Given the description of an element on the screen output the (x, y) to click on. 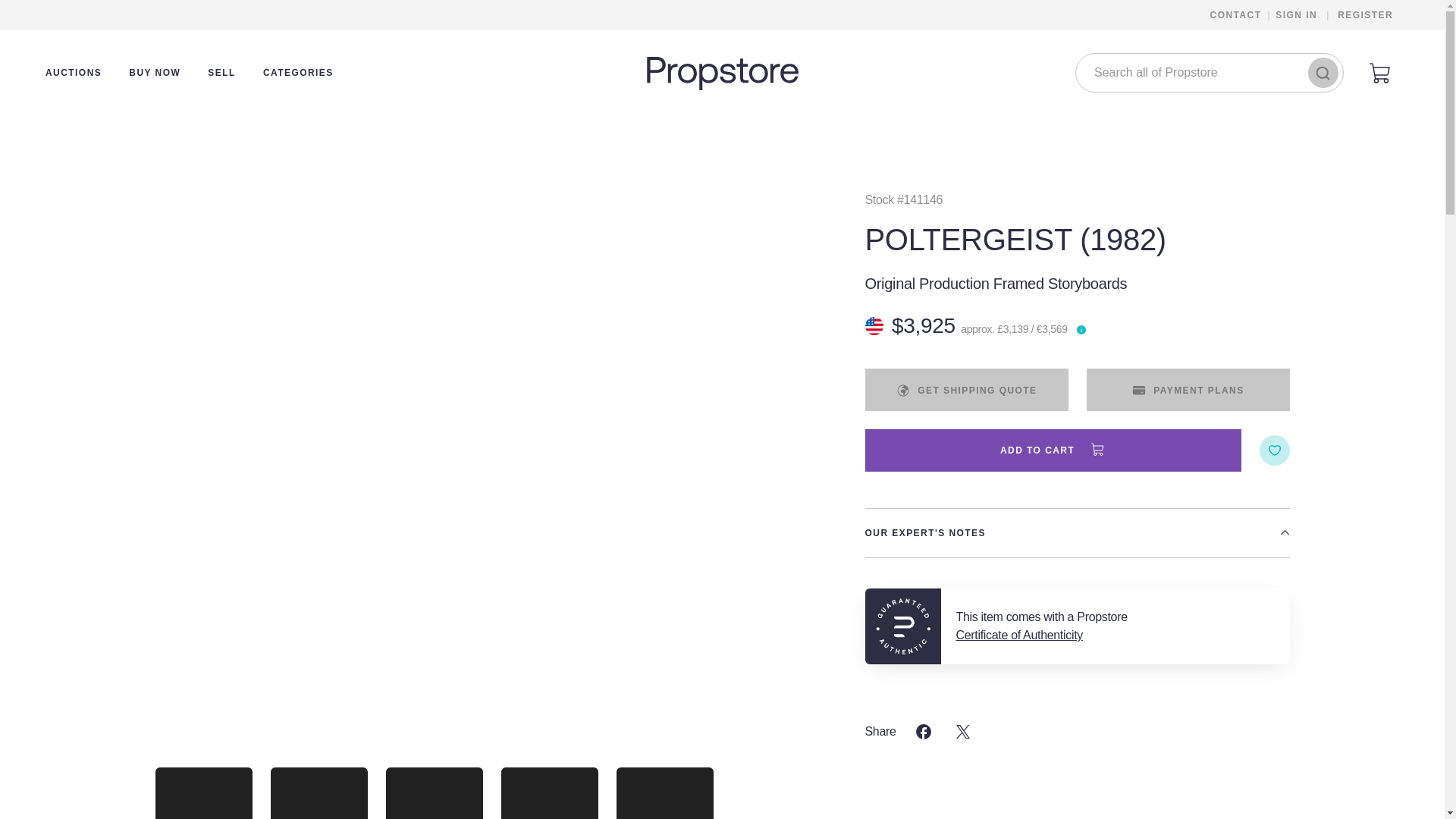
SIGN IN (1296, 15)
REGISTER (1365, 15)
CONTACT (1236, 15)
